Given the description of an element on the screen output the (x, y) to click on. 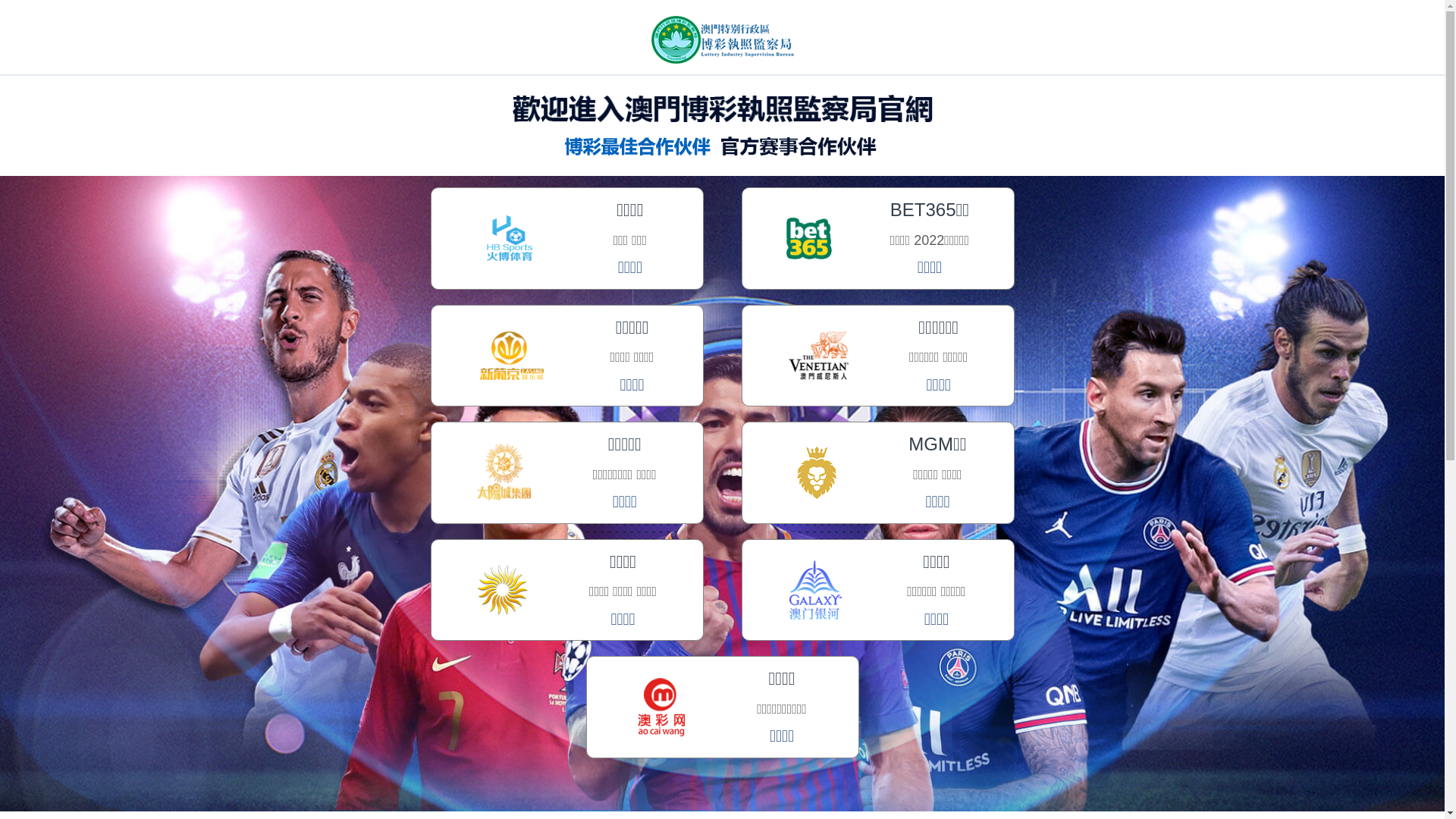
Search Element type: text (1069, 146)
